Given the description of an element on the screen output the (x, y) to click on. 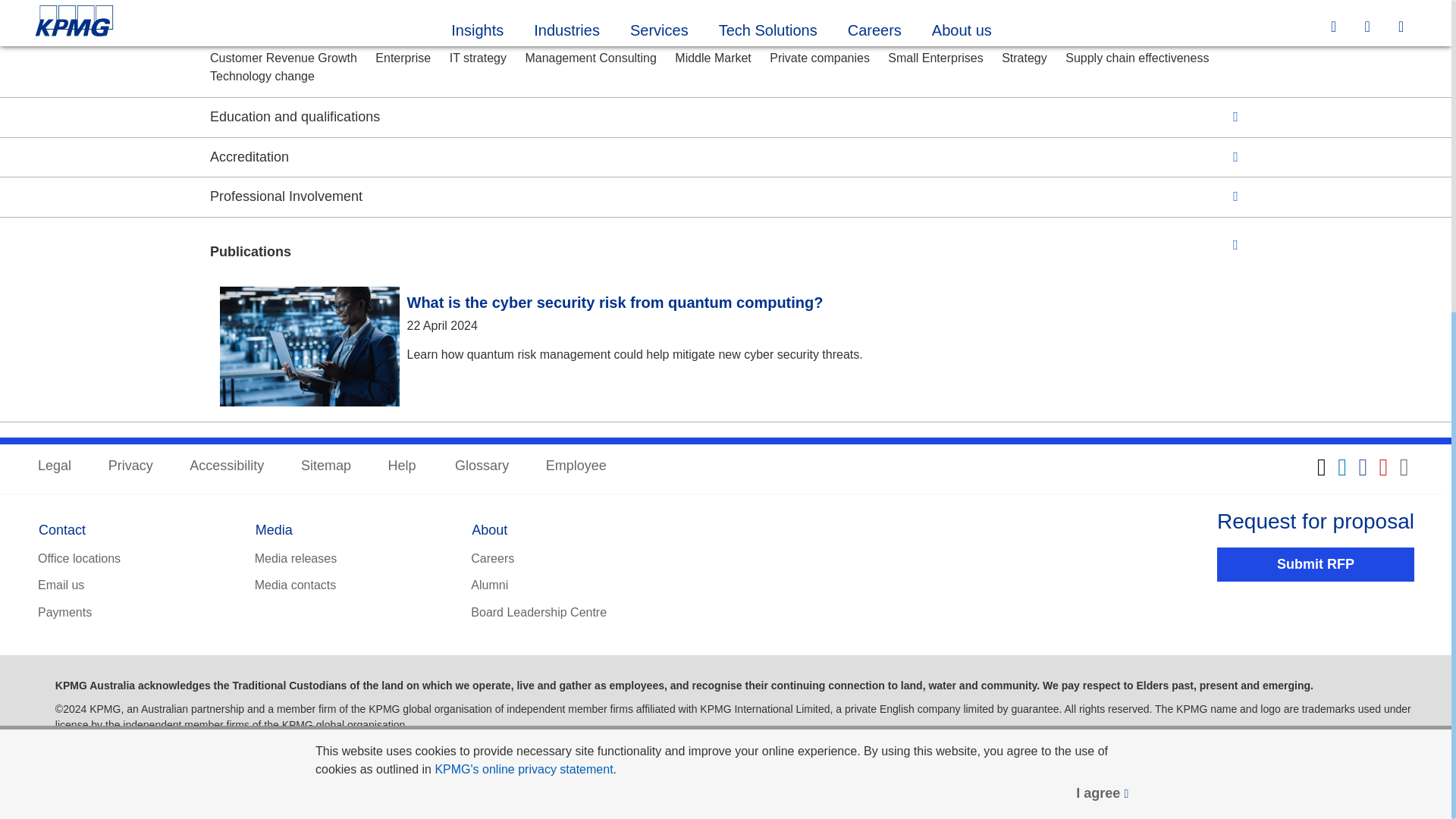
KPMG's online privacy statement (522, 266)
I agree (1103, 291)
